Given the description of an element on the screen output the (x, y) to click on. 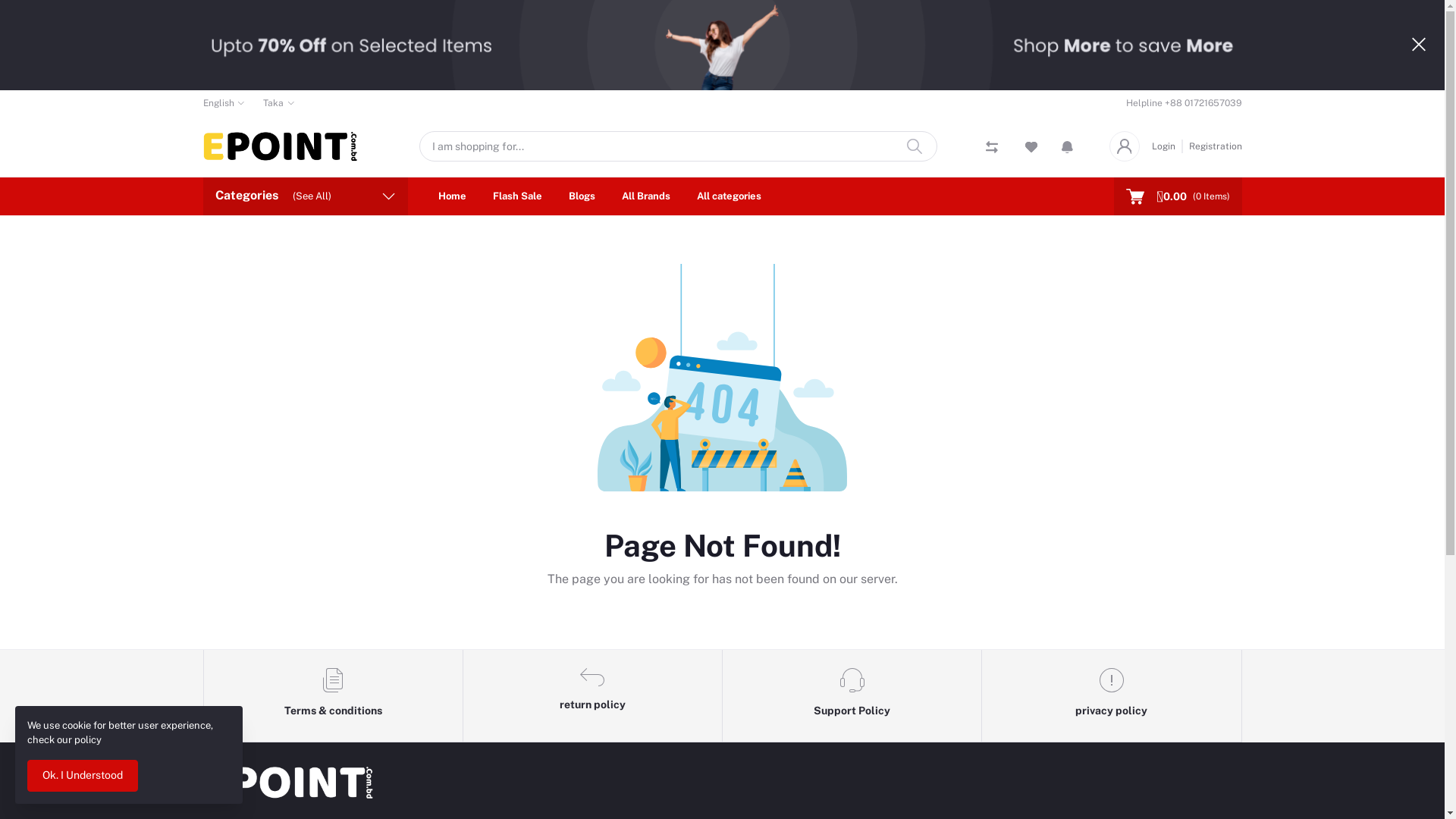
return policy Element type: text (592, 695)
privacy policy Element type: text (1111, 695)
Login Element type: text (1166, 146)
Support Policy Element type: text (852, 695)
Registration Element type: text (1212, 146)
(See All) Element type: text (311, 195)
Helpline +88 01721657039 Element type: text (1183, 103)
Ok. I Understood Element type: text (82, 775)
Taka Element type: text (278, 103)
Blogs Element type: text (581, 196)
Flash Sale Element type: text (517, 196)
Terms & conditions Element type: text (332, 695)
Home Element type: text (452, 196)
All categories Element type: text (728, 196)
All Brands Element type: text (645, 196)
English Element type: text (224, 103)
